Given the description of an element on the screen output the (x, y) to click on. 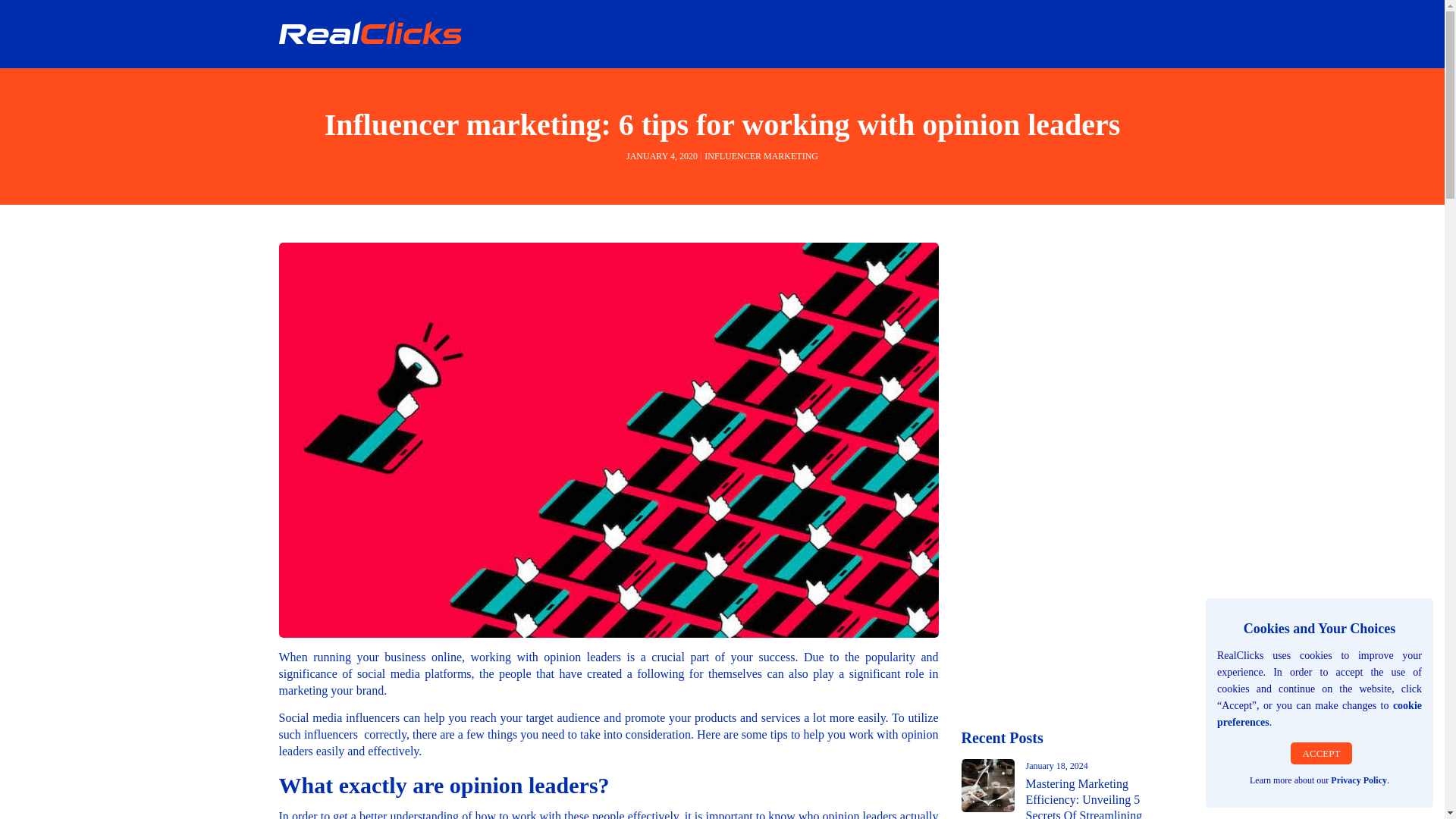
INFLUENCER MARKETING (761, 155)
